Given the description of an element on the screen output the (x, y) to click on. 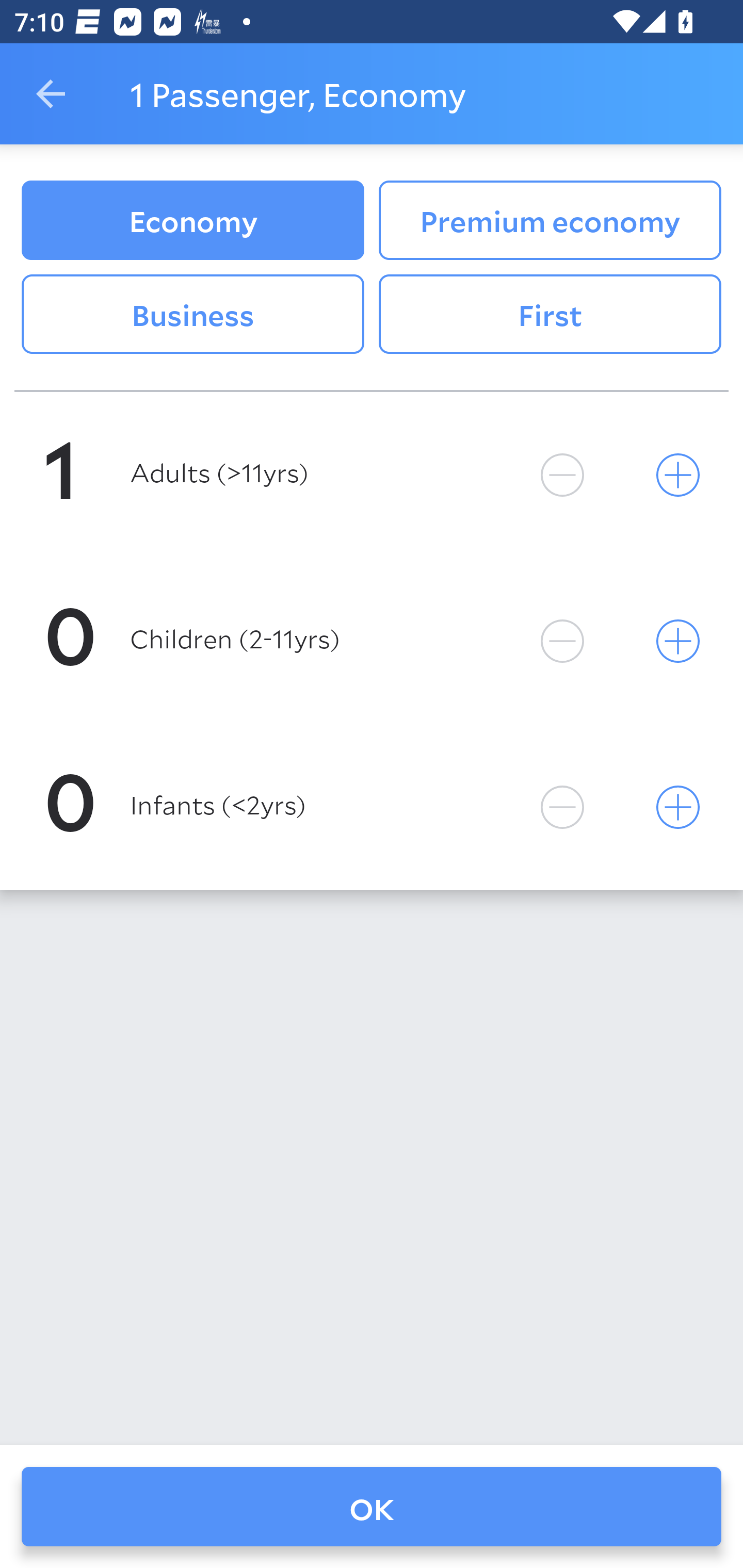
Navigate up (50, 93)
Economy (192, 220)
Premium economy (549, 220)
Business (192, 314)
First (549, 314)
OK (371, 1506)
